Given the description of an element on the screen output the (x, y) to click on. 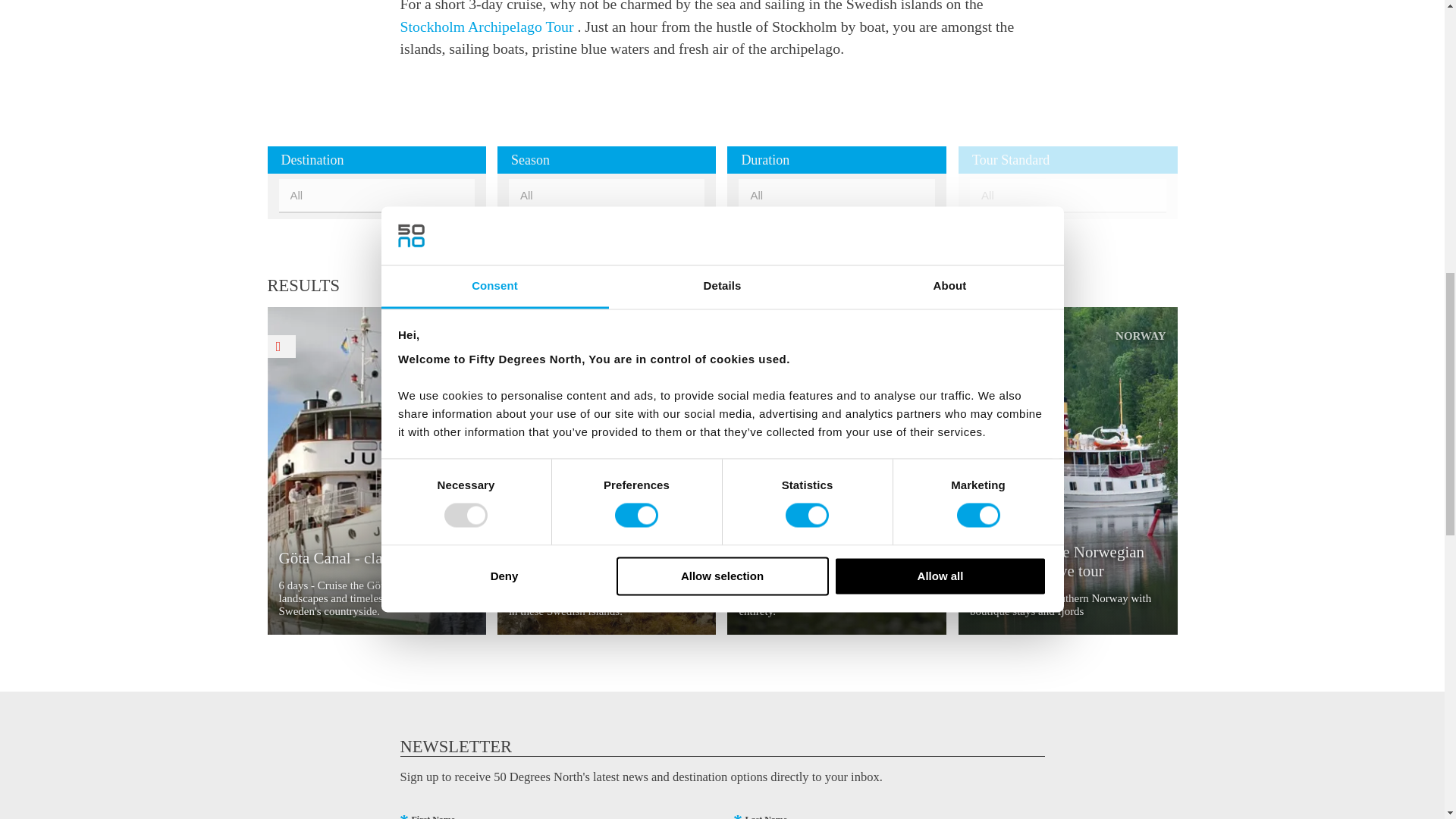
Save Tour (740, 345)
Save Tour (972, 345)
Save Tour (280, 345)
Save Tour (511, 345)
